Given the description of an element on the screen output the (x, y) to click on. 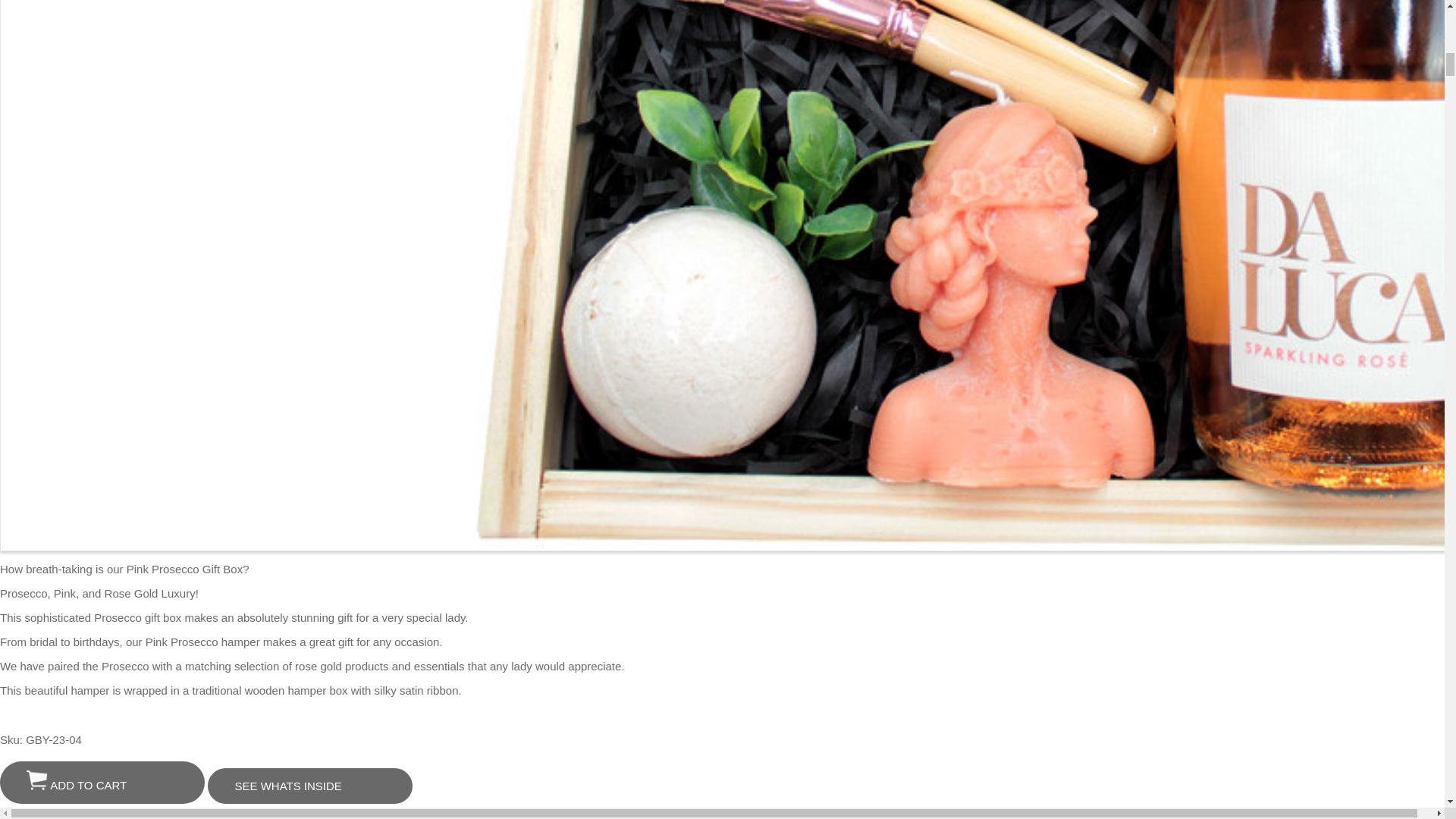
Add to Cart (37, 779)
